Given the description of an element on the screen output the (x, y) to click on. 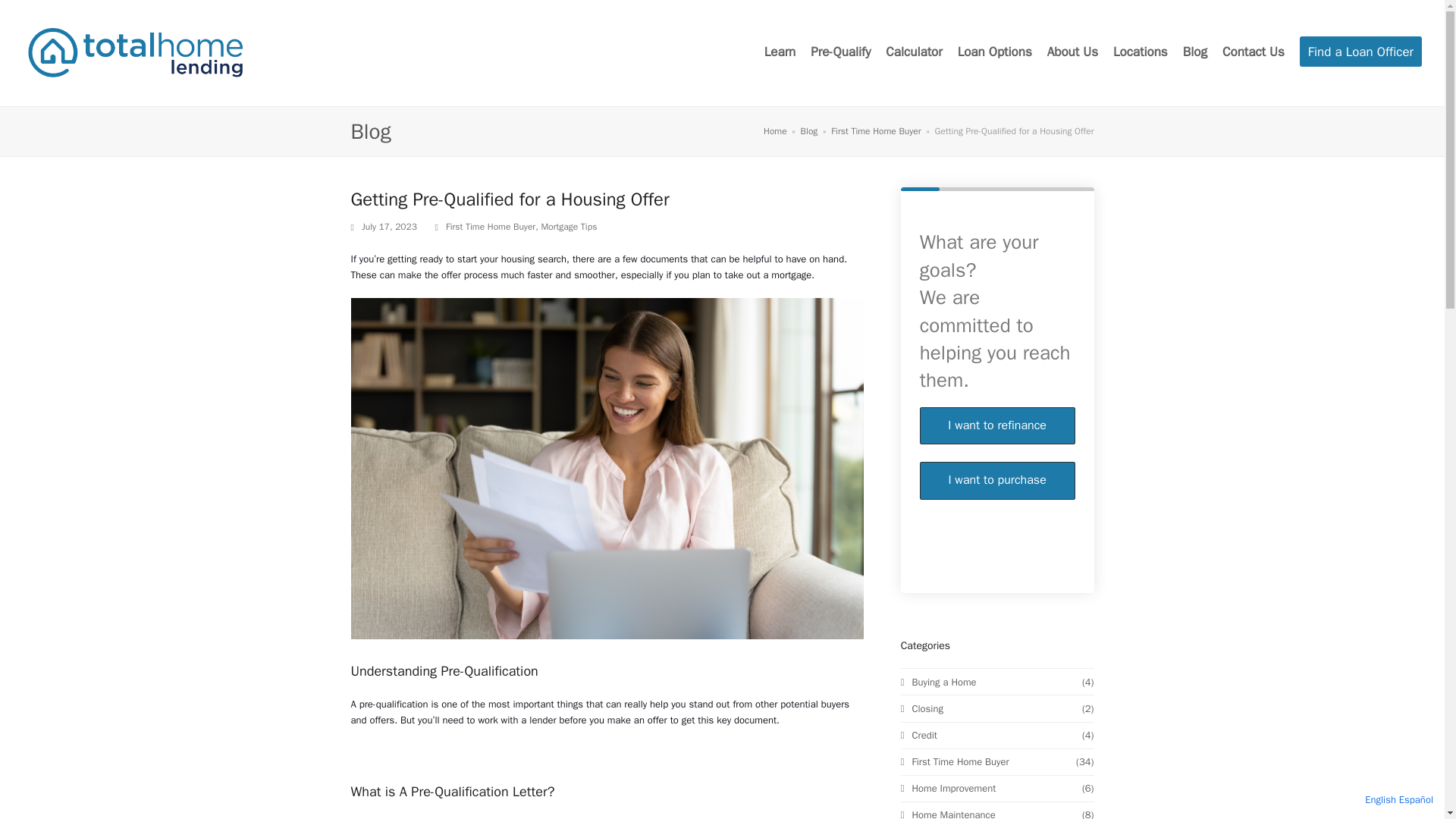
Calculator (913, 53)
Locations (1140, 53)
Find a Loan Officer (997, 461)
Home (1361, 53)
Find a Loan Officer (774, 131)
Loan Options (1361, 53)
Contact Us (995, 53)
Loan Options (1253, 53)
About Us (995, 53)
